Given the description of an element on the screen output the (x, y) to click on. 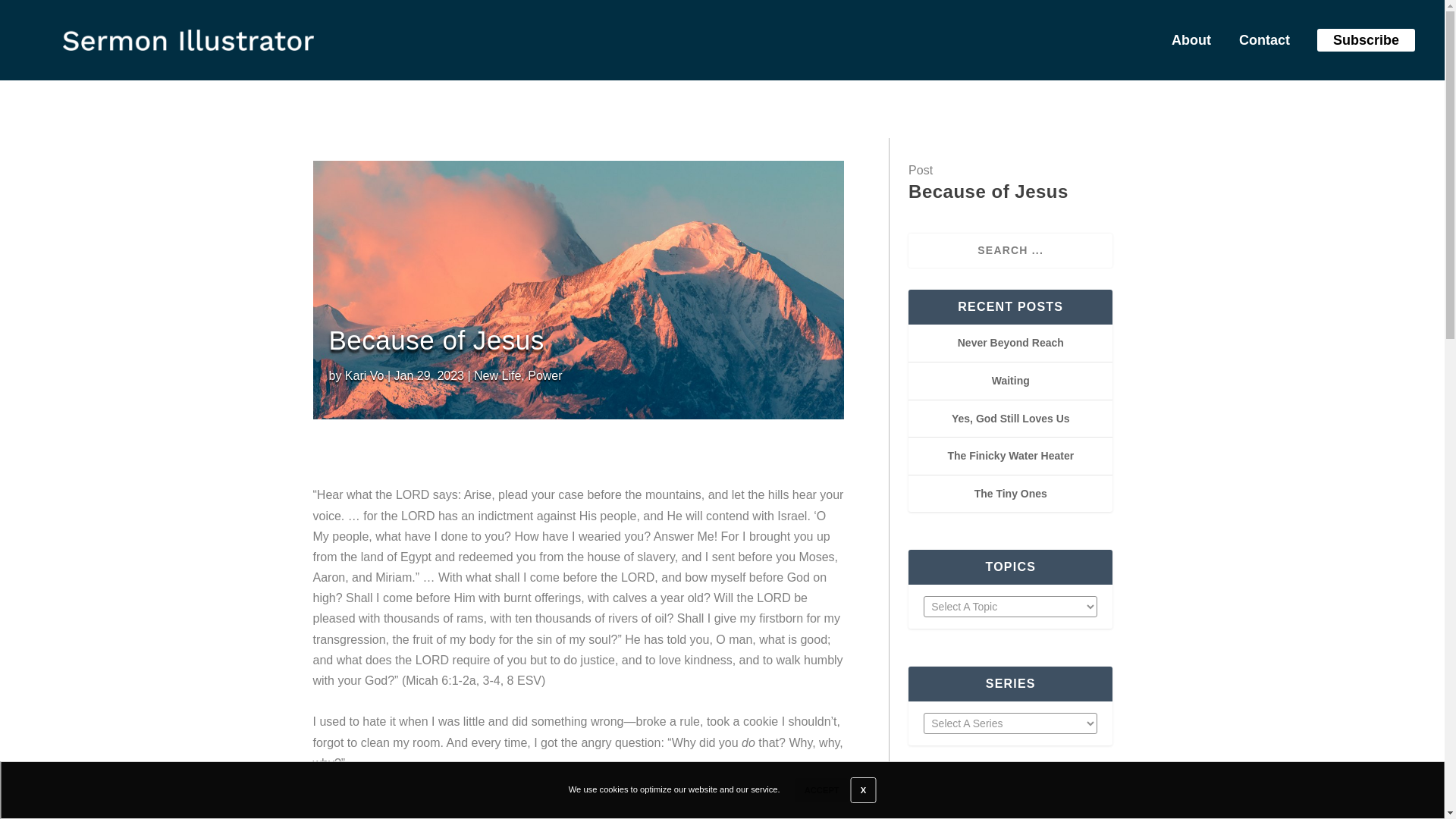
Subscribe (1365, 39)
The Finicky Water Heater (1010, 455)
X (863, 790)
New Project (188, 39)
Contact (1258, 43)
Search (29, 13)
Yes, God Still Loves Us (1011, 418)
Waiting (1010, 380)
The Tiny Ones (1010, 493)
Power (544, 375)
